Given the description of an element on the screen output the (x, y) to click on. 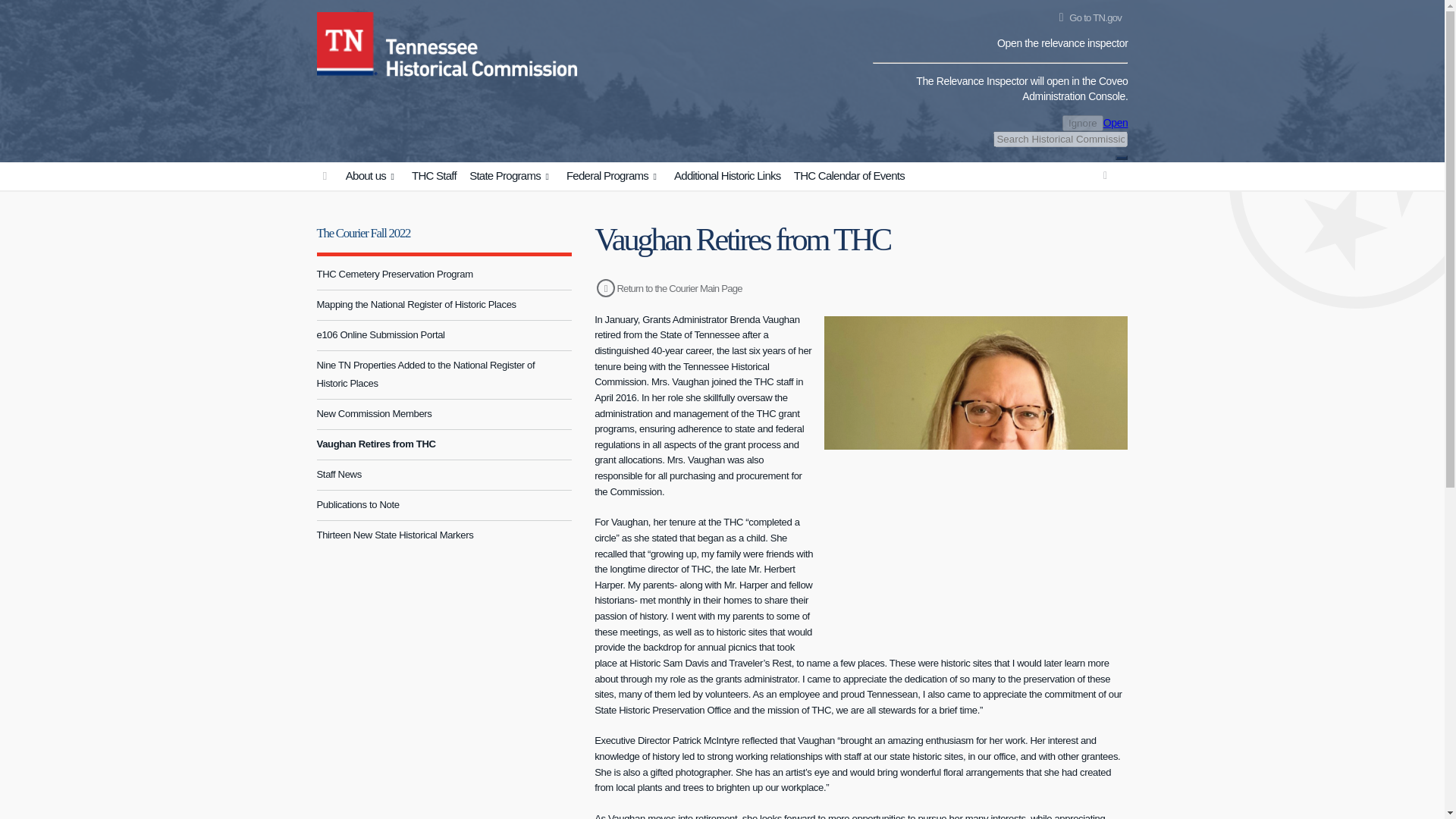
Brenda Vaughan (975, 483)
New Commission Members (444, 414)
Go to TN.gov (1086, 18)
Federal Programs (613, 176)
Vaughan Retires from THC (444, 444)
Go to TN Historical Commission (324, 176)
THC Calendar of Events (849, 176)
State Programs (511, 176)
Additional Historic Links (727, 176)
Home (347, 41)
